Given the description of an element on the screen output the (x, y) to click on. 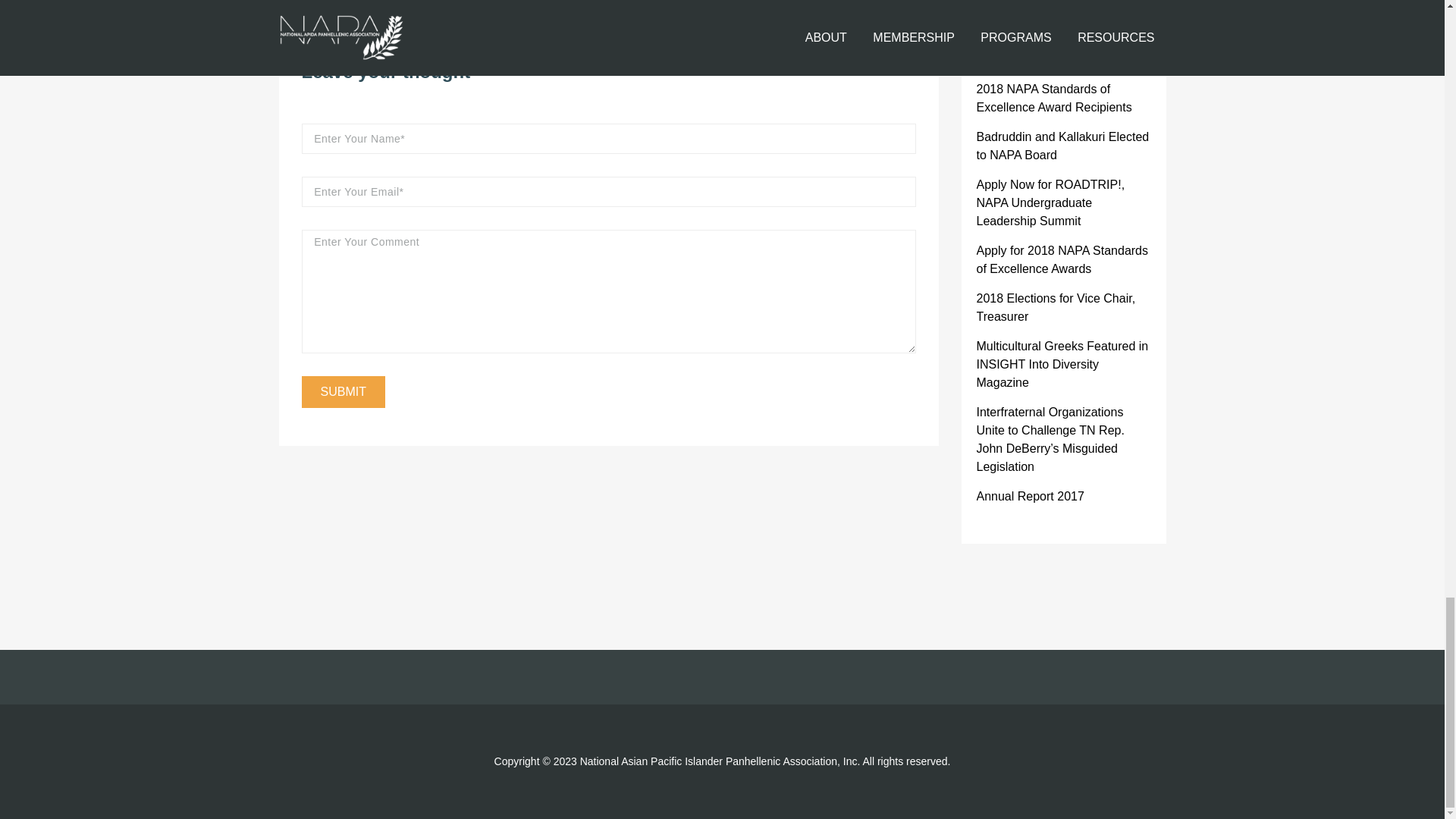
Submit (343, 391)
Submit (343, 391)
